Given the description of an element on the screen output the (x, y) to click on. 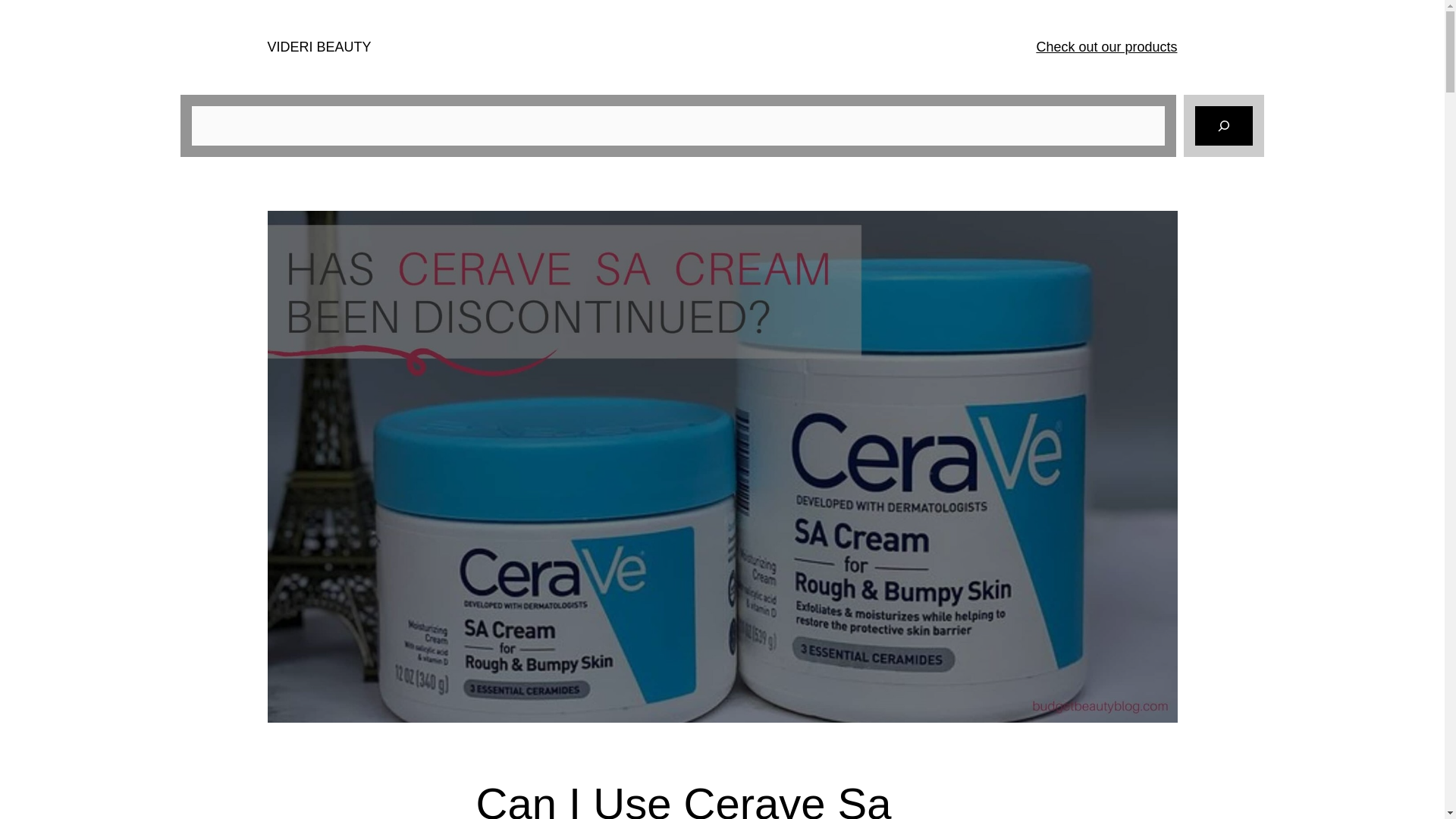
Check out our products (1105, 46)
VIDERI BEAUTY (318, 46)
